Given the description of an element on the screen output the (x, y) to click on. 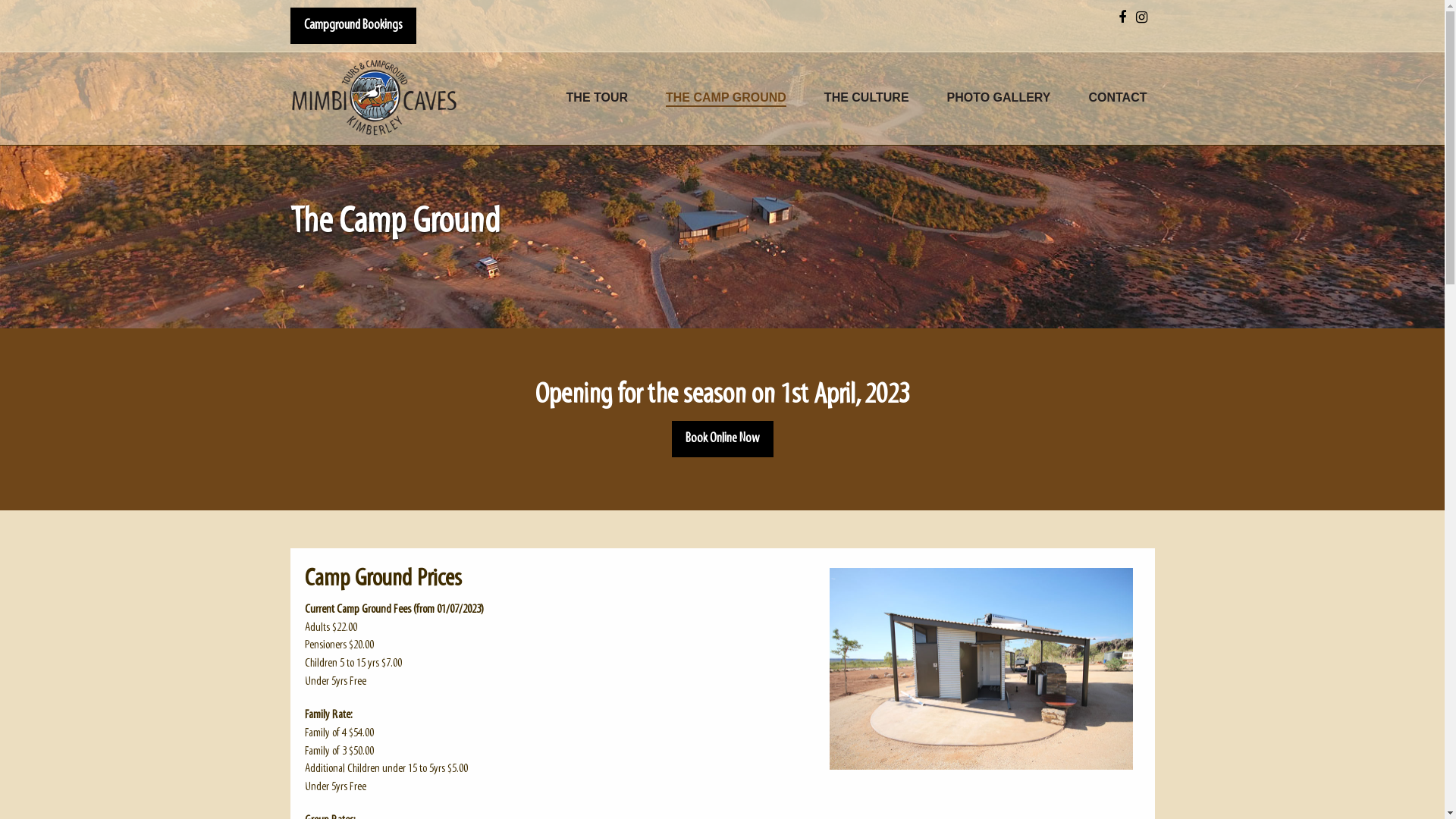
Book Online Now Element type: text (722, 438)
Facebook Element type: hover (1121, 17)
Campground Bookings Element type: text (352, 25)
THE CAMP GROUND Element type: text (725, 98)
THE CULTURE Element type: text (866, 98)
PHOTO GALLERY Element type: text (999, 98)
THE TOUR Element type: text (596, 98)
CONTACT Element type: text (1117, 98)
Instagram Element type: hover (1141, 17)
